Given the description of an element on the screen output the (x, y) to click on. 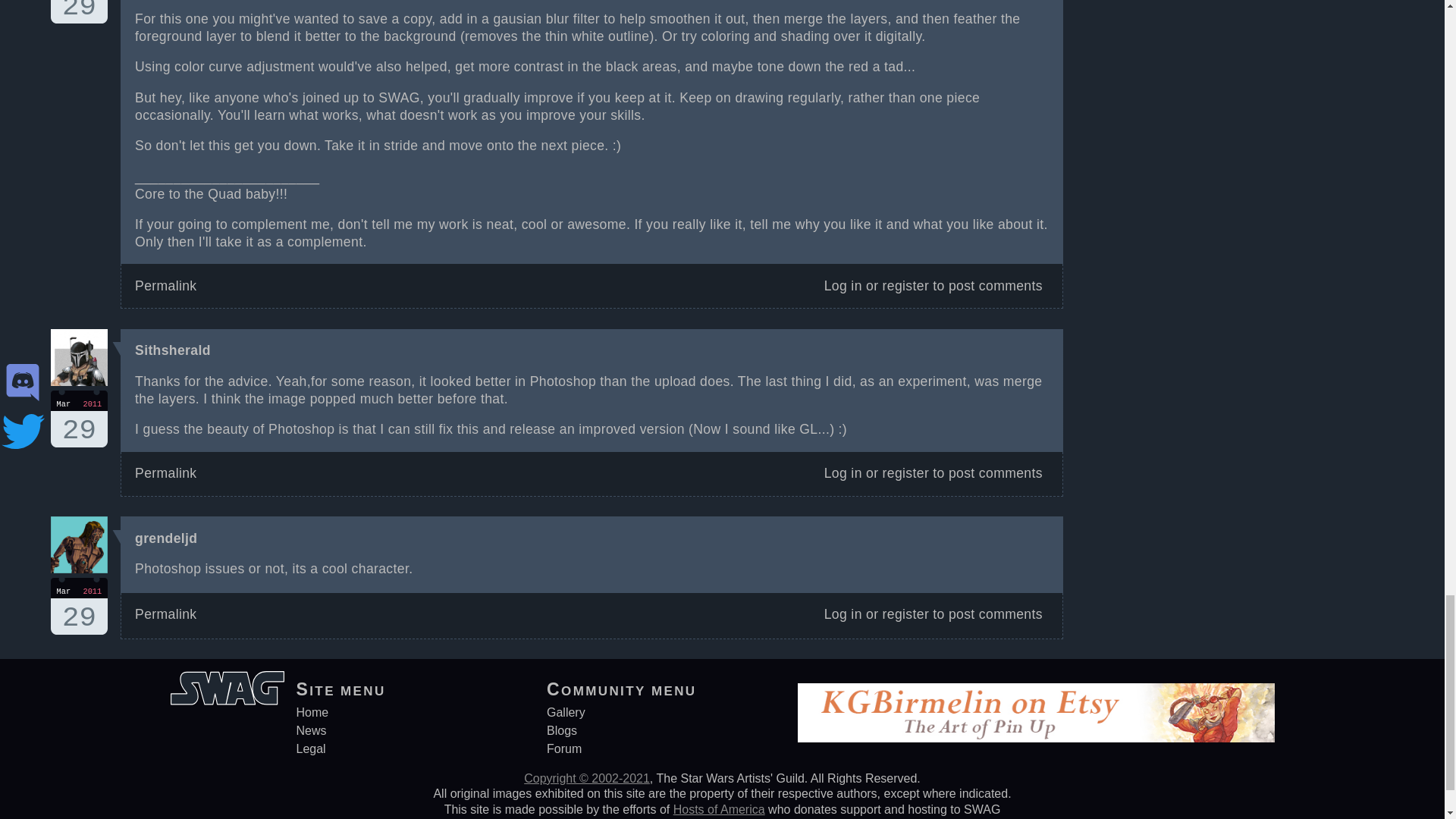
register (905, 473)
Log in (842, 285)
View user profile. (78, 418)
register (165, 538)
Permalink (905, 285)
Permalink (165, 285)
View user profile. (165, 473)
Log in (78, 606)
